Given the description of an element on the screen output the (x, y) to click on. 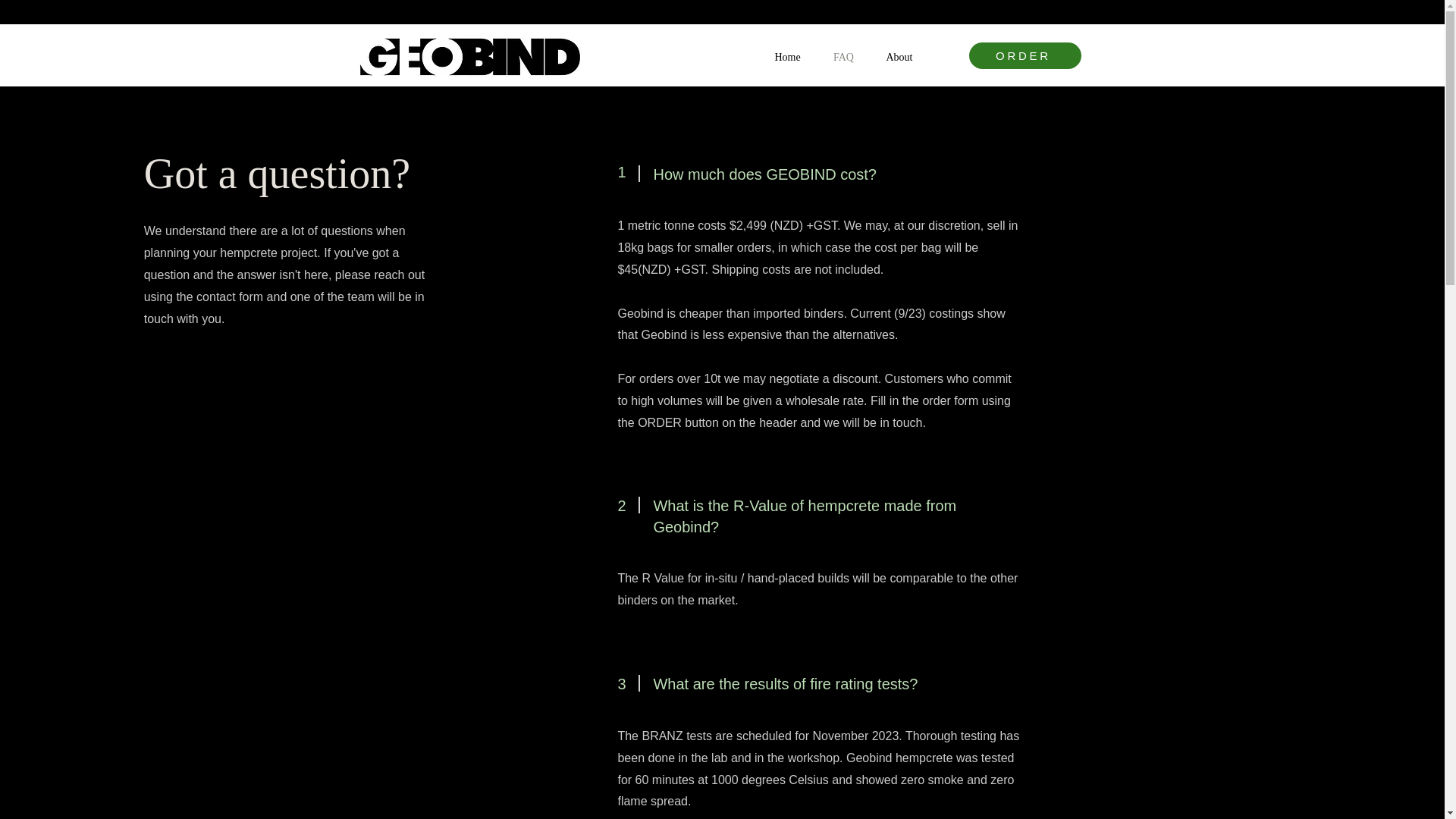
About (899, 57)
FAQ (843, 57)
ORDER (1025, 55)
Home (787, 57)
